Given the description of an element on the screen output the (x, y) to click on. 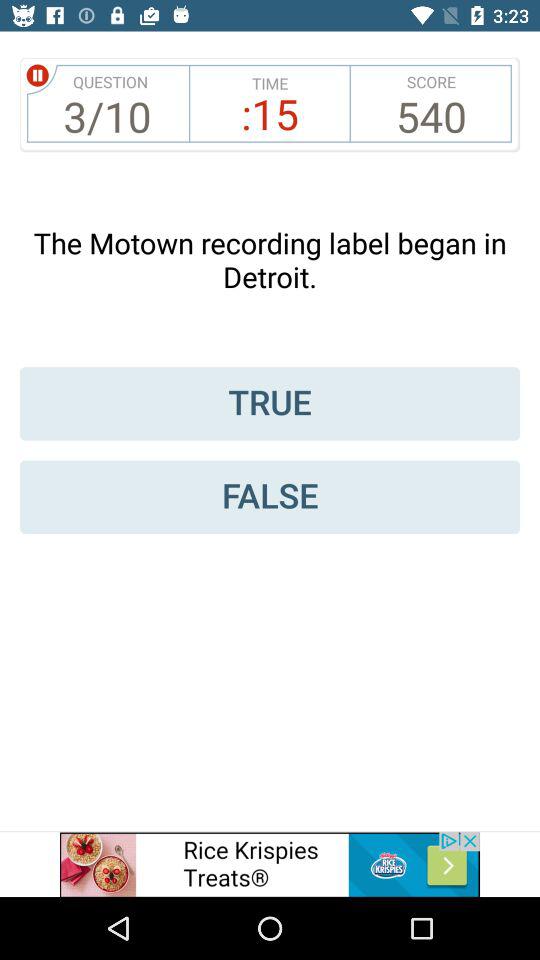
select the option below the true (269, 496)
